Given the description of an element on the screen output the (x, y) to click on. 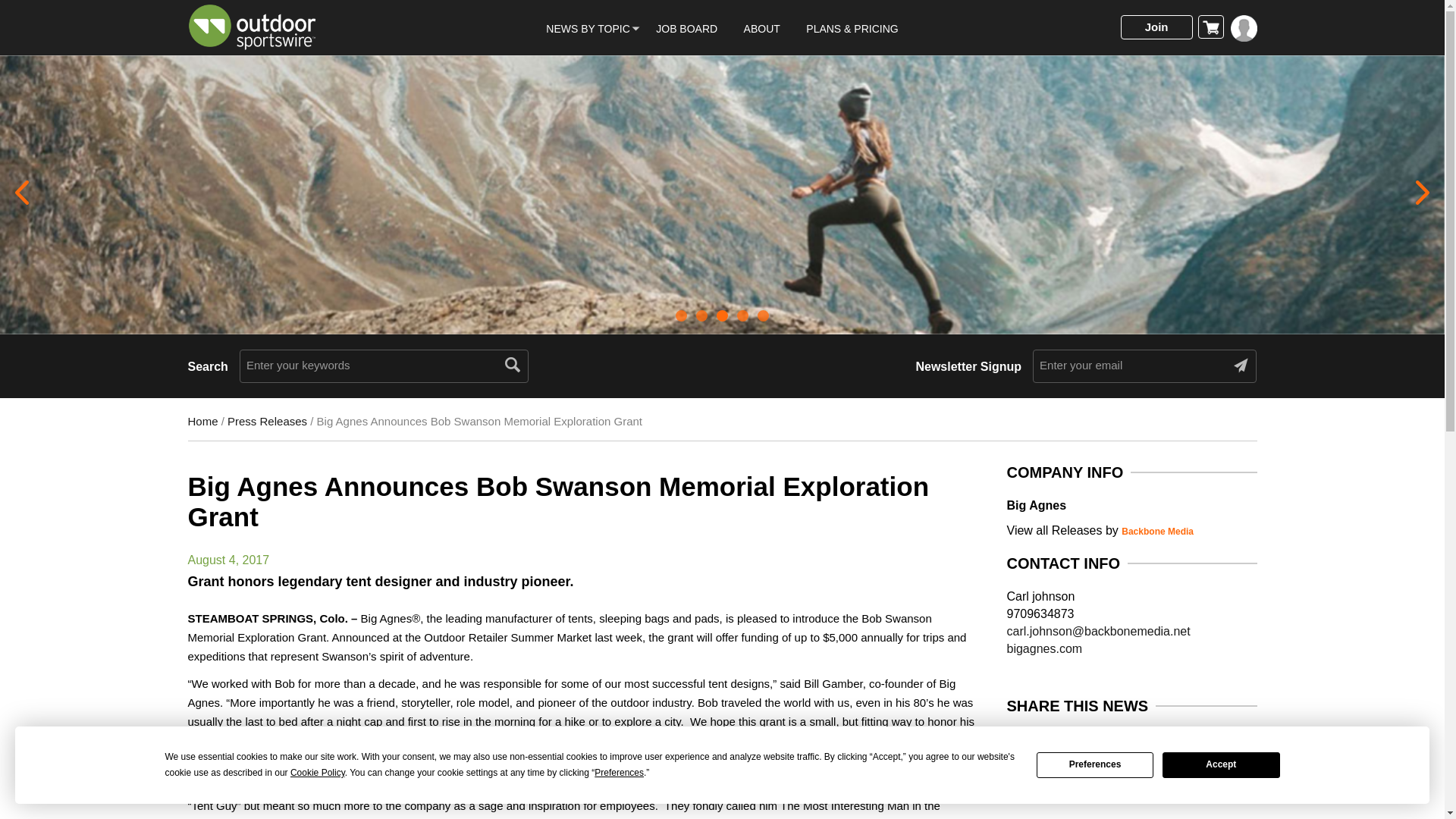
Email (1139, 745)
NEWS BY TOPIC (587, 28)
Instagram (1109, 745)
Linkedin (1080, 745)
Facebook (1022, 745)
ABOUT (762, 28)
Posts by Backbone Media (1157, 531)
Google Gmail (1169, 745)
JOB BOARD (686, 28)
Accept (1220, 765)
Join (1156, 27)
Twitter (1050, 745)
Preferences (1094, 765)
